Given the description of an element on the screen output the (x, y) to click on. 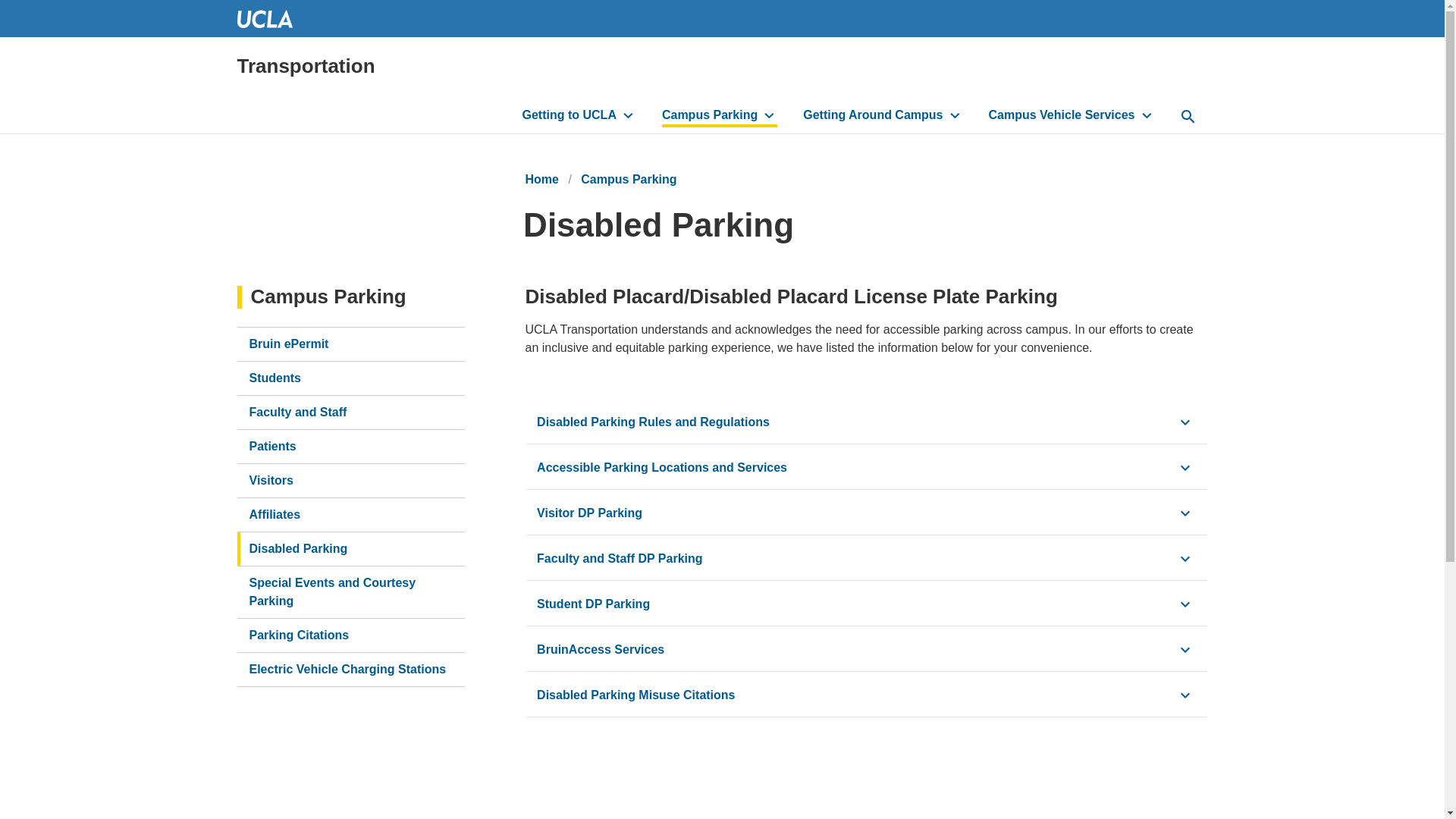
Campus Parking (718, 116)
Getting to UCLA (578, 116)
Transportation (304, 66)
Getting Around Campus (881, 116)
Search Icon (1187, 116)
Home (304, 66)
